Given the description of an element on the screen output the (x, y) to click on. 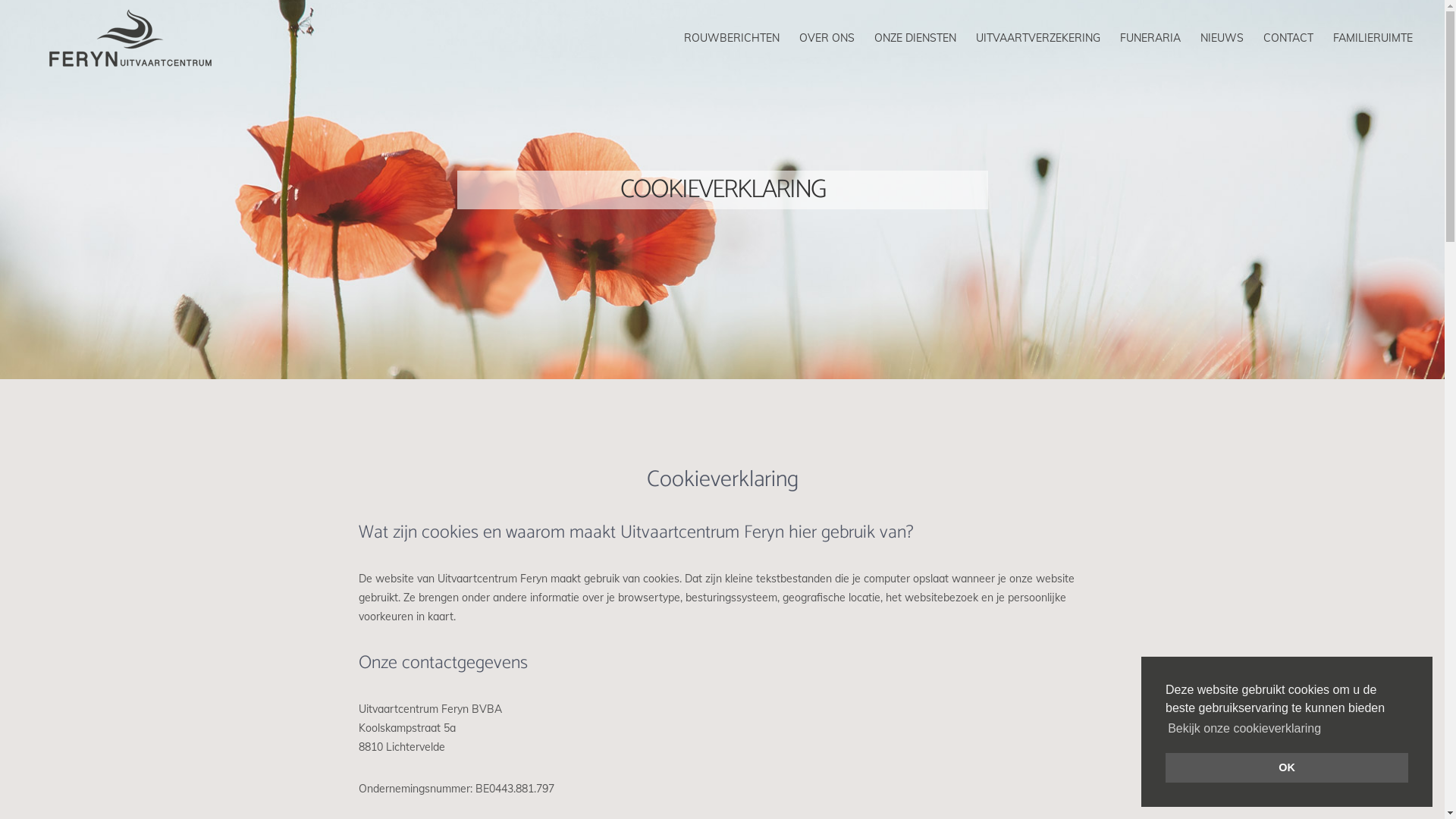
ROUWBERICHTEN Element type: text (731, 37)
OK Element type: text (1286, 767)
OVER ONS Element type: text (826, 37)
NIEUWS Element type: text (1221, 37)
UITVAARTVERZEKERING Element type: text (1037, 37)
CONTACT Element type: text (1288, 37)
ONZE DIENSTEN Element type: text (915, 37)
FAMILIERUIMTE Element type: text (1372, 37)
FUNERARIA Element type: text (1149, 37)
Bekijk onze cookieverklaring Element type: text (1244, 728)
